Given the description of an element on the screen output the (x, y) to click on. 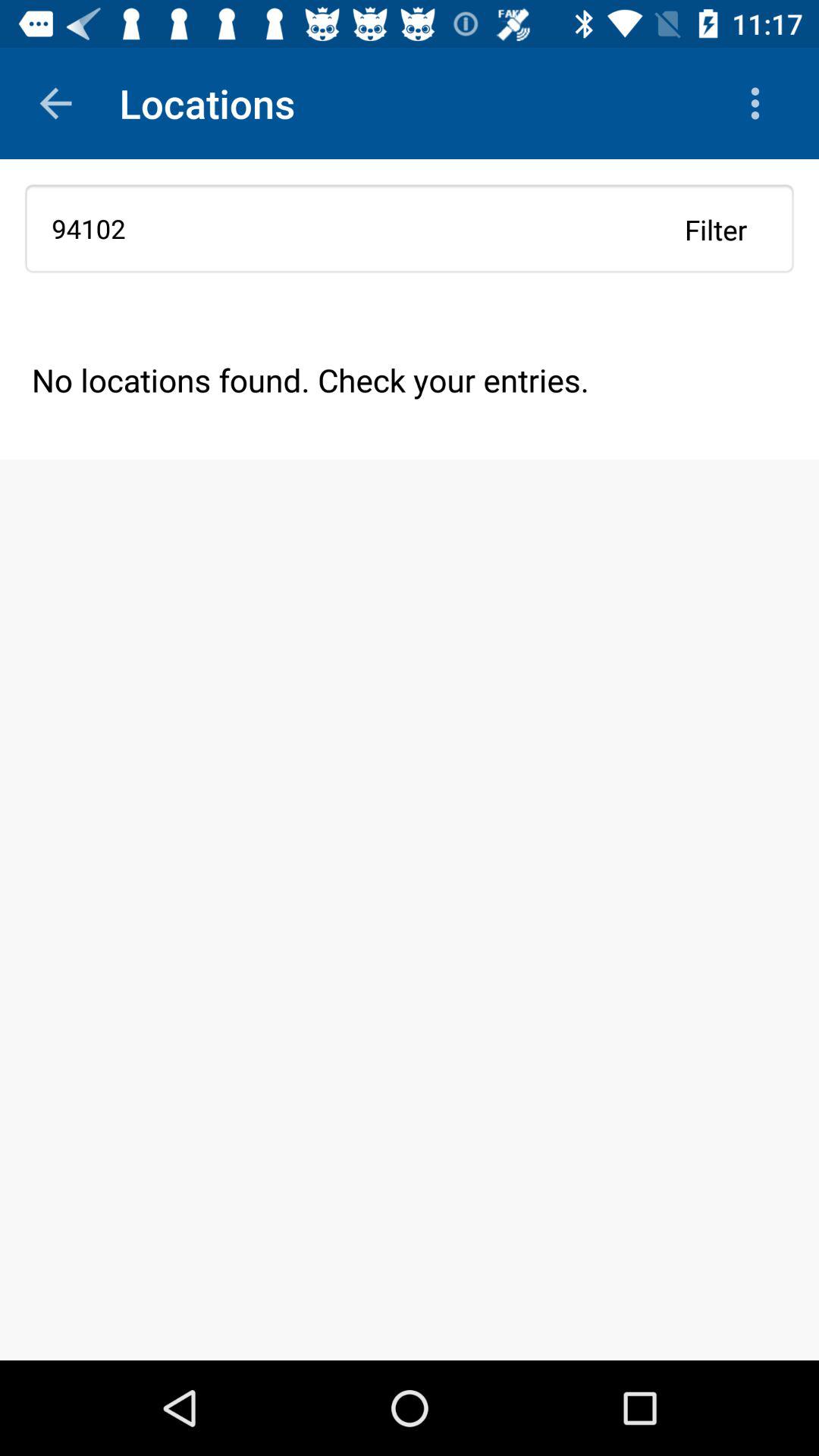
flip to the no locations found icon (409, 379)
